Given the description of an element on the screen output the (x, y) to click on. 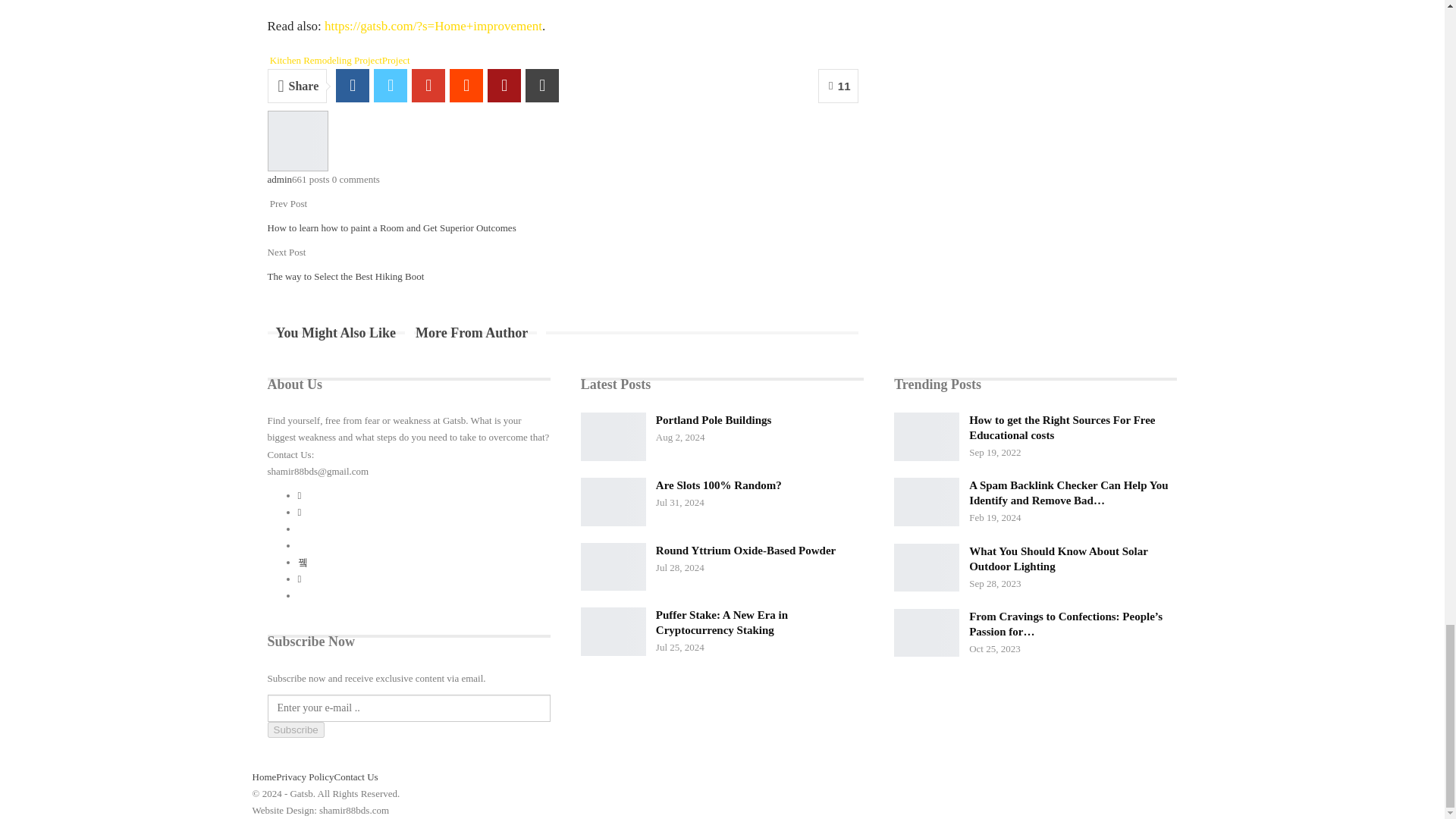
Browse Author Articles (296, 139)
